Given the description of an element on the screen output the (x, y) to click on. 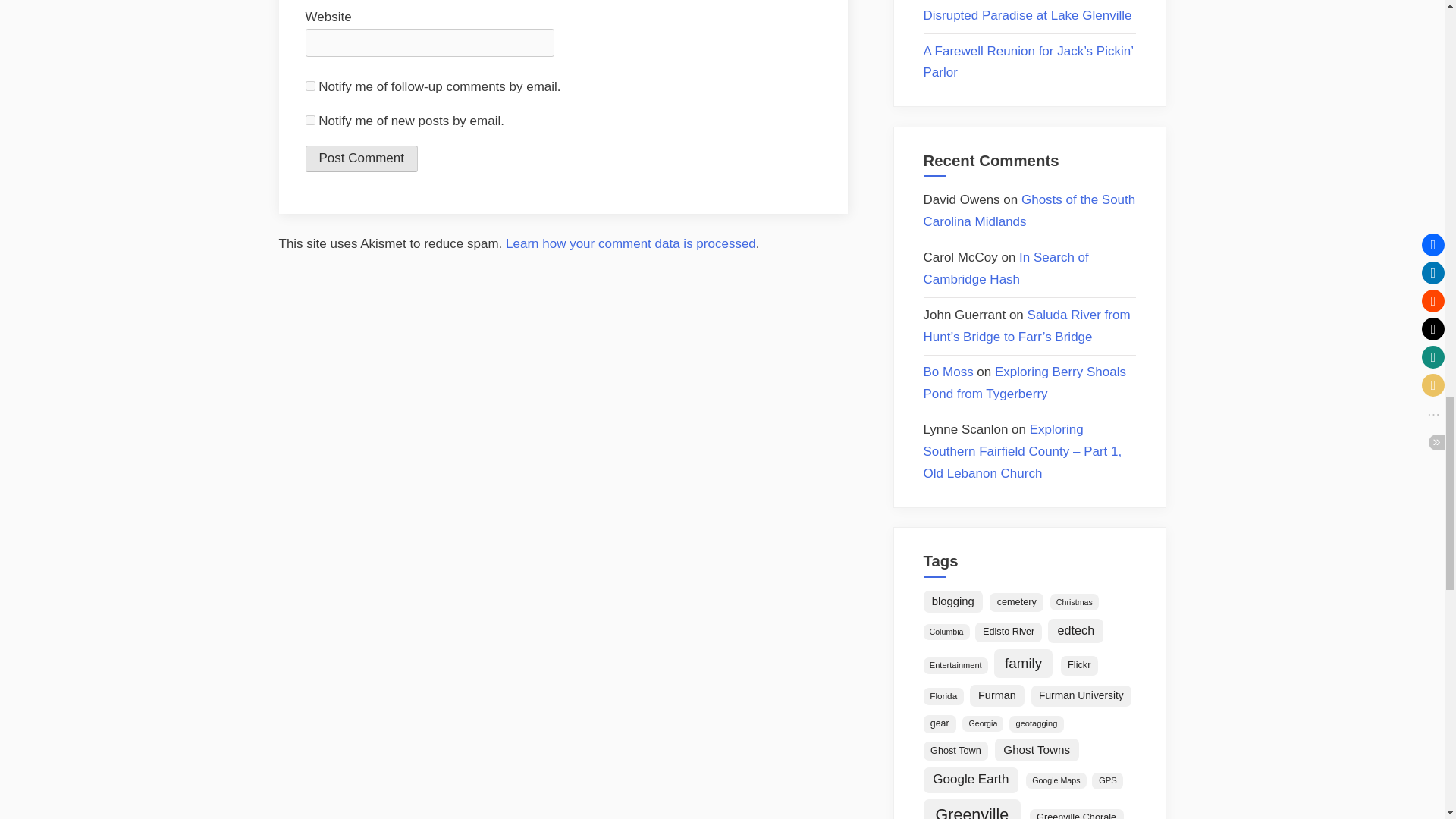
Post Comment (360, 158)
subscribe (309, 85)
subscribe (309, 120)
Post Comment (360, 158)
Learn how your comment data is processed (630, 243)
